Given the description of an element on the screen output the (x, y) to click on. 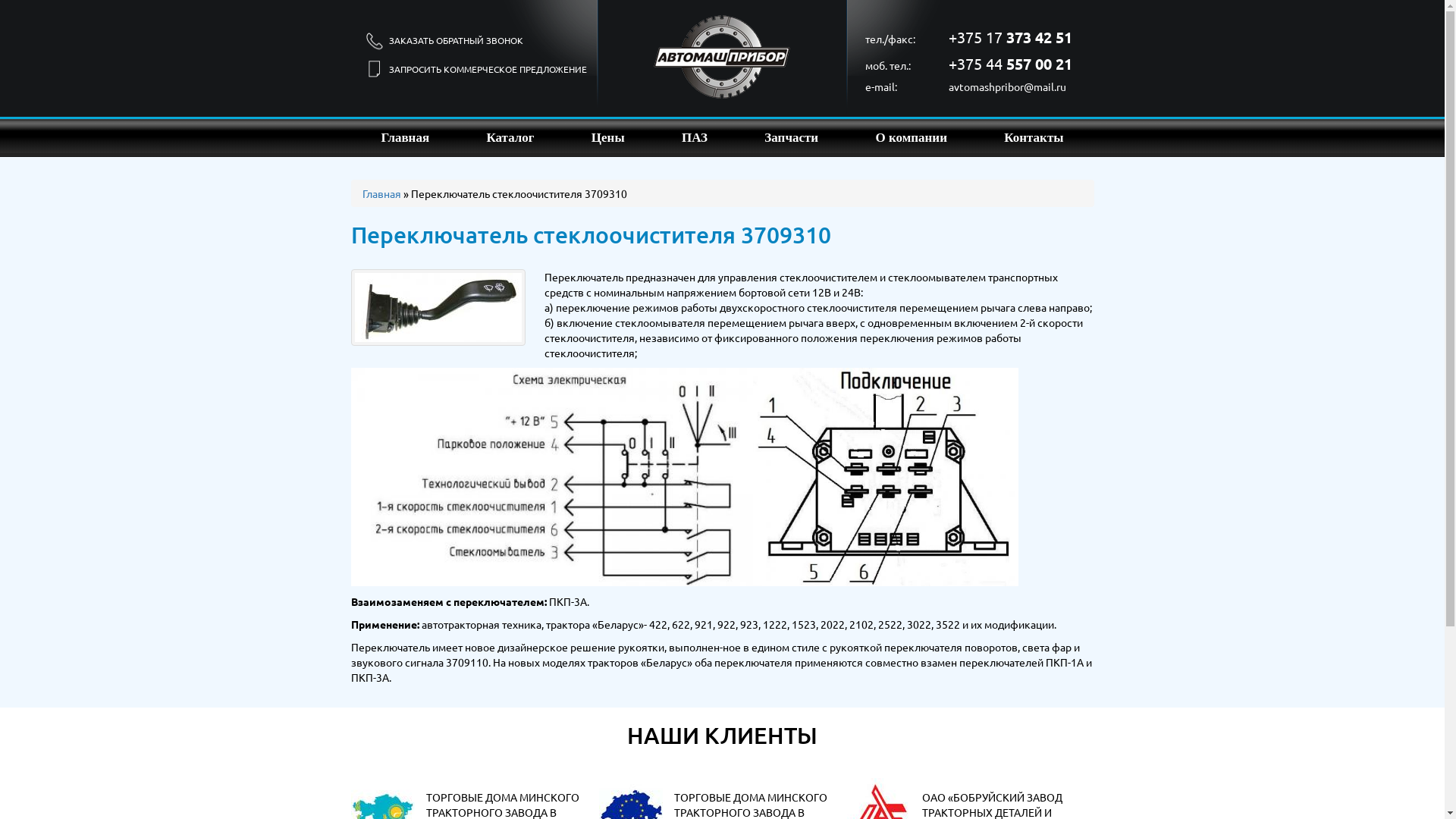
avtomashpribor@mail.ru Element type: text (1007, 86)
